Given the description of an element on the screen output the (x, y) to click on. 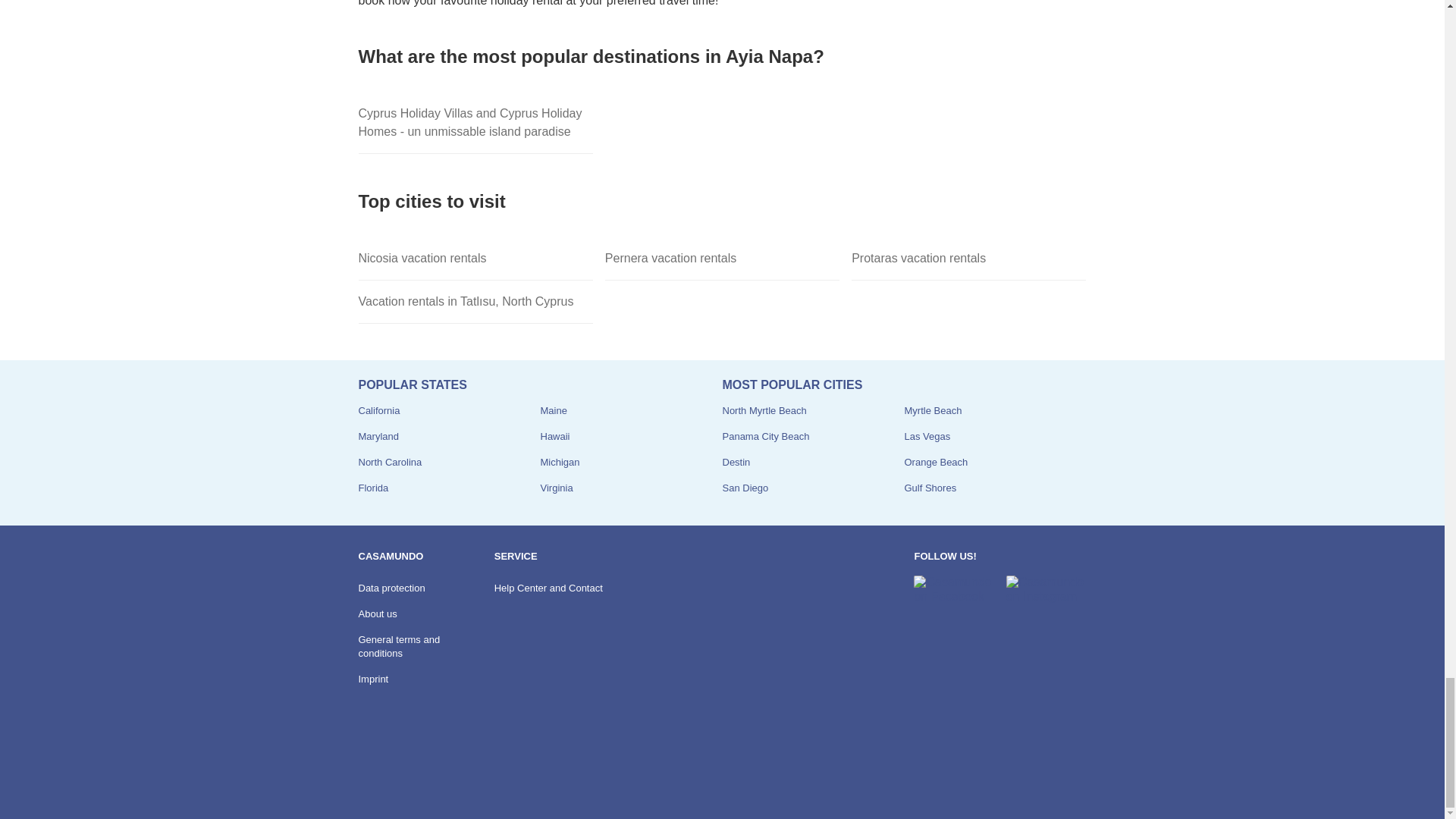
Protaras vacation rentals (968, 258)
Nicosia vacation rentals (475, 258)
Casamundo on Instagram (1046, 589)
Pernera vacation rentals (722, 258)
Nicosia vacation rentals (475, 258)
Protaras vacation rentals (968, 258)
Casamundo on Facebook (953, 589)
California (378, 410)
Pernera vacation rentals (722, 258)
